Given the description of an element on the screen output the (x, y) to click on. 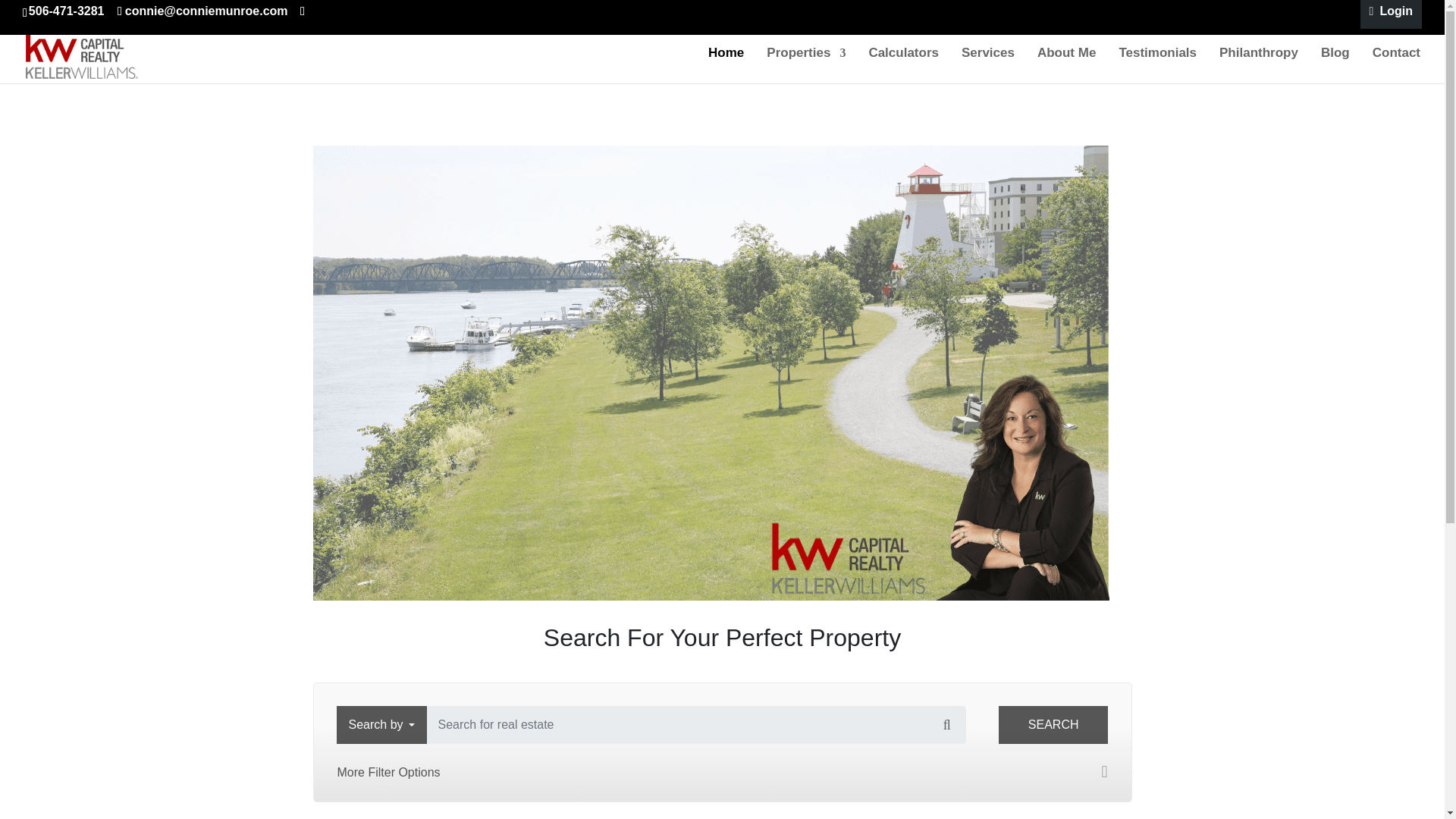
Properties (806, 65)
Search by (381, 724)
SEARCH (1053, 724)
Home (725, 65)
Calculators (903, 65)
Testimonials (1157, 65)
About Me (1066, 65)
More Filter Options (722, 772)
Contact (1397, 65)
Philanthropy (1259, 65)
Services (987, 65)
